Given the description of an element on the screen output the (x, y) to click on. 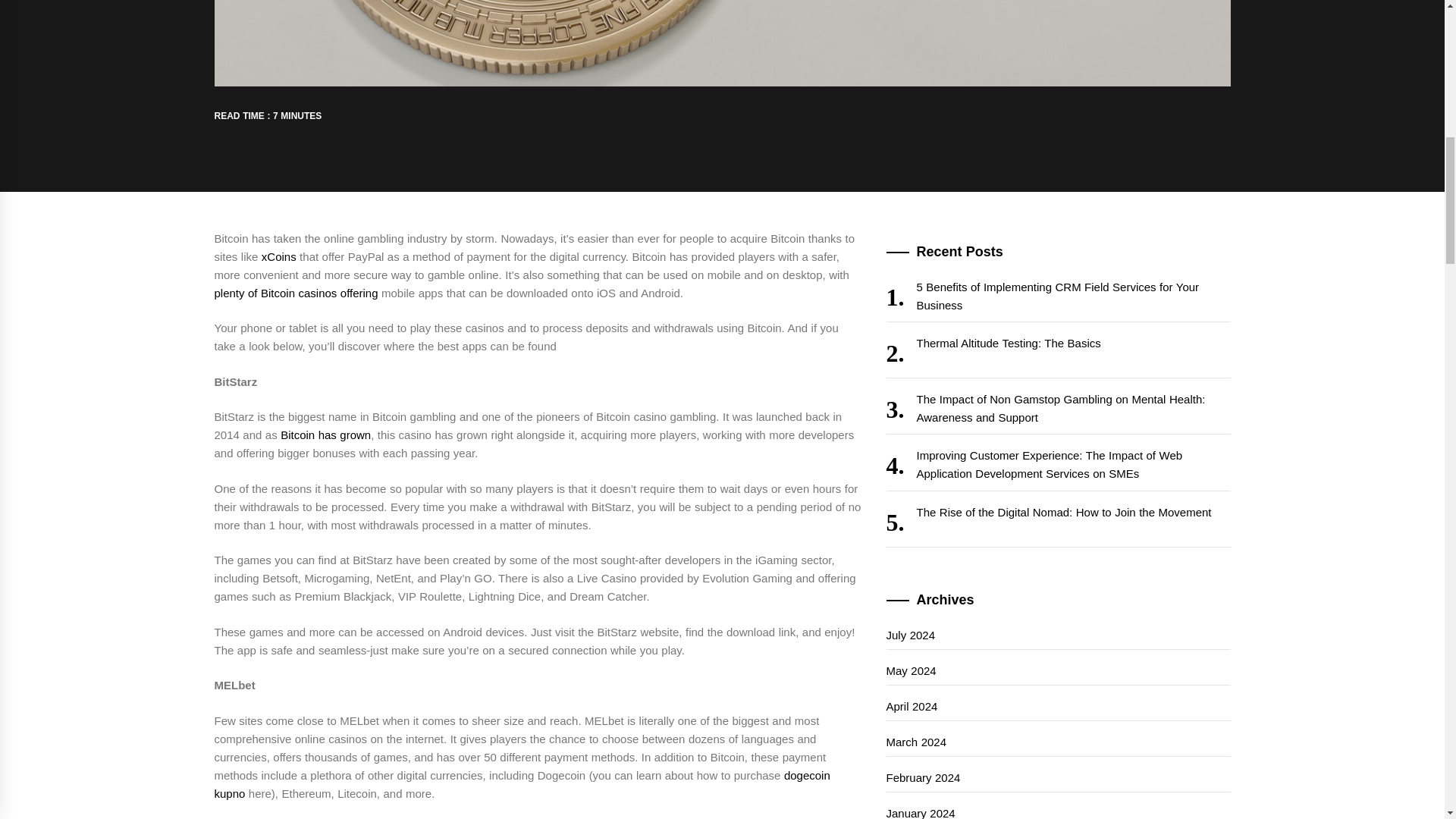
xCoins (279, 256)
plenty of Bitcoin casinos offering (295, 292)
Thermal Altitude Testing: The Basics (1057, 354)
dogecoin kupno (521, 784)
Bitcoin has grown (326, 434)
